Given the description of an element on the screen output the (x, y) to click on. 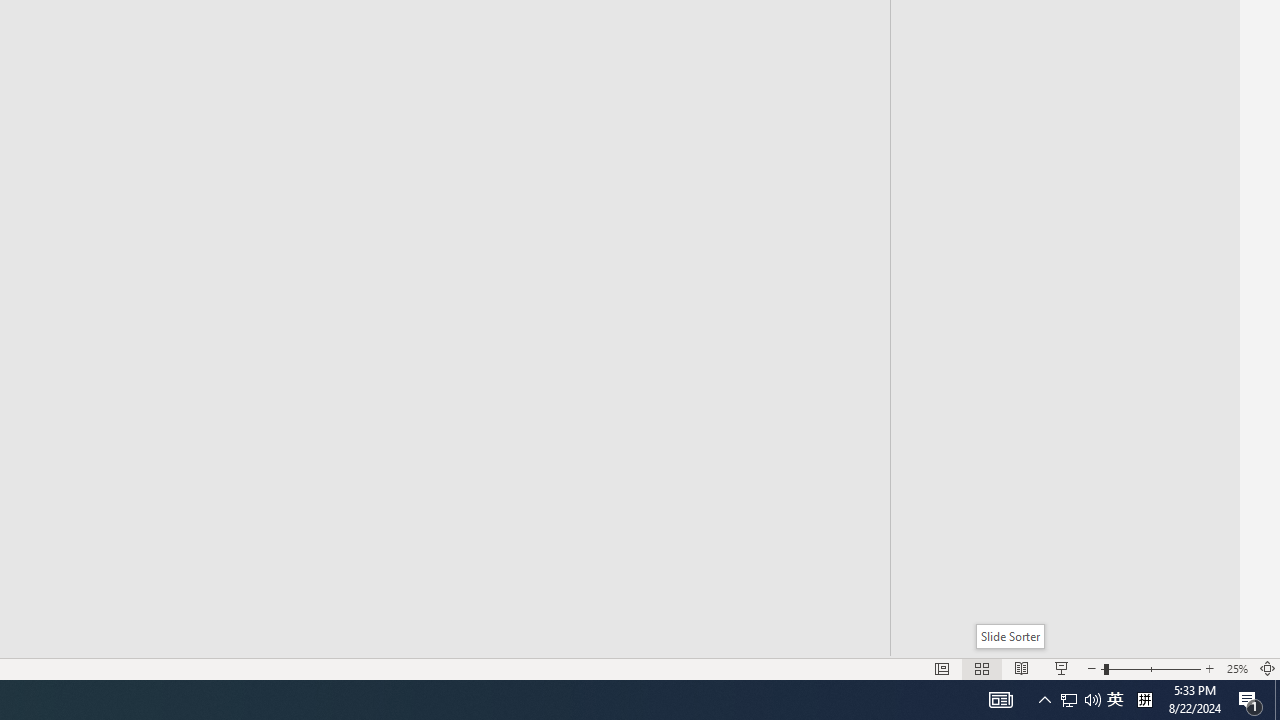
Zoom 25% (1236, 668)
